Given the description of an element on the screen output the (x, y) to click on. 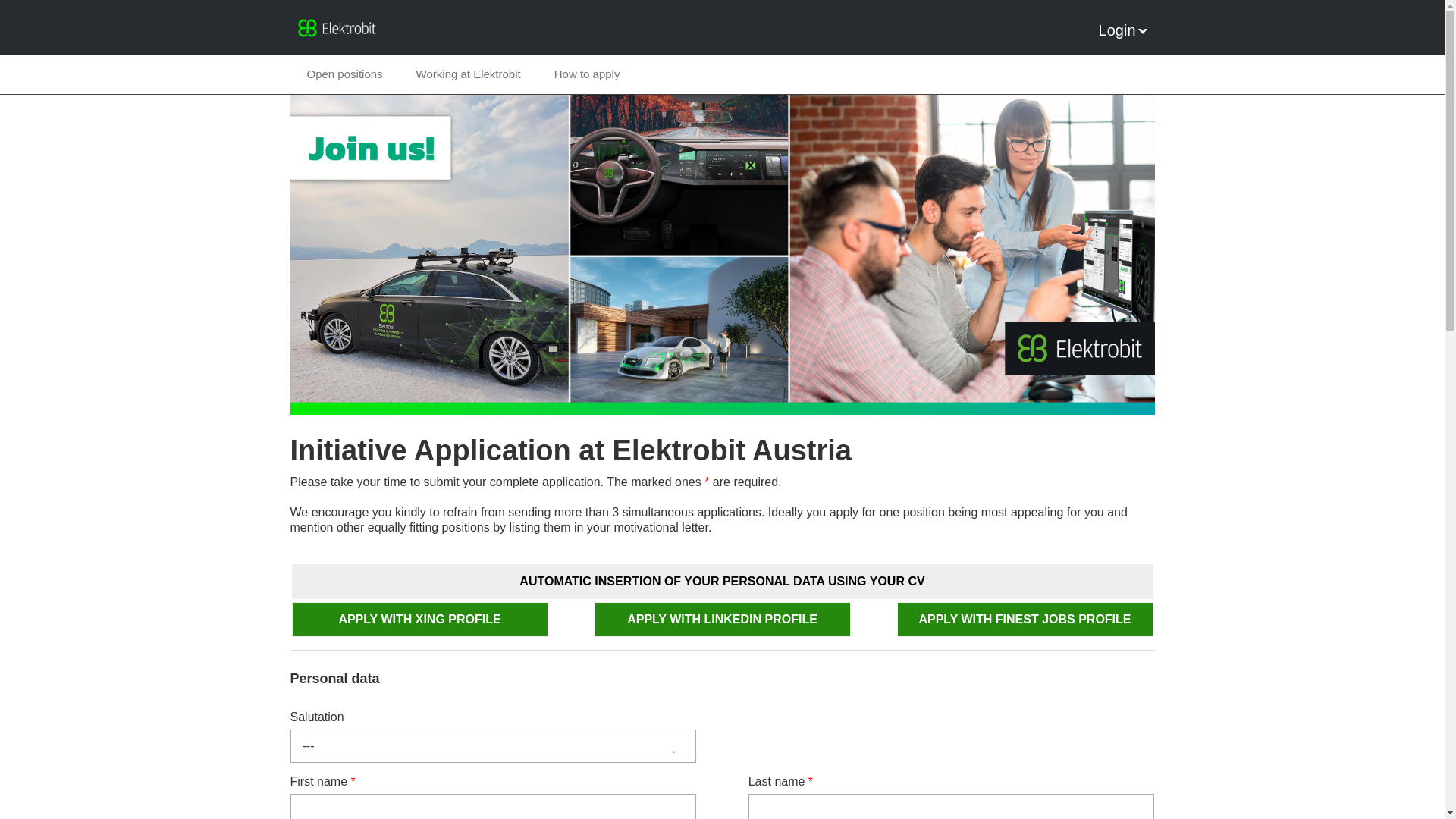
Xing (419, 619)
Elektrobit Automotive GmbH (335, 28)
Finest Jobs (1024, 619)
APPLY WITH FINEST JOBS PROFILE (1024, 619)
AUTOMATIC INSERTION OF YOUR PERSONAL DATA USING YOUR CV (722, 581)
Login (1123, 30)
Open positions (343, 74)
Gender (492, 745)
How to apply (587, 74)
APPLY WITH XING PROFILE (419, 619)
LinkedIn (722, 619)
Automatic insertion of your personal data using your CV (722, 581)
APPLY WITH LINKEDIN PROFILE (722, 619)
Working at Elektrobit (467, 74)
